Given the description of an element on the screen output the (x, y) to click on. 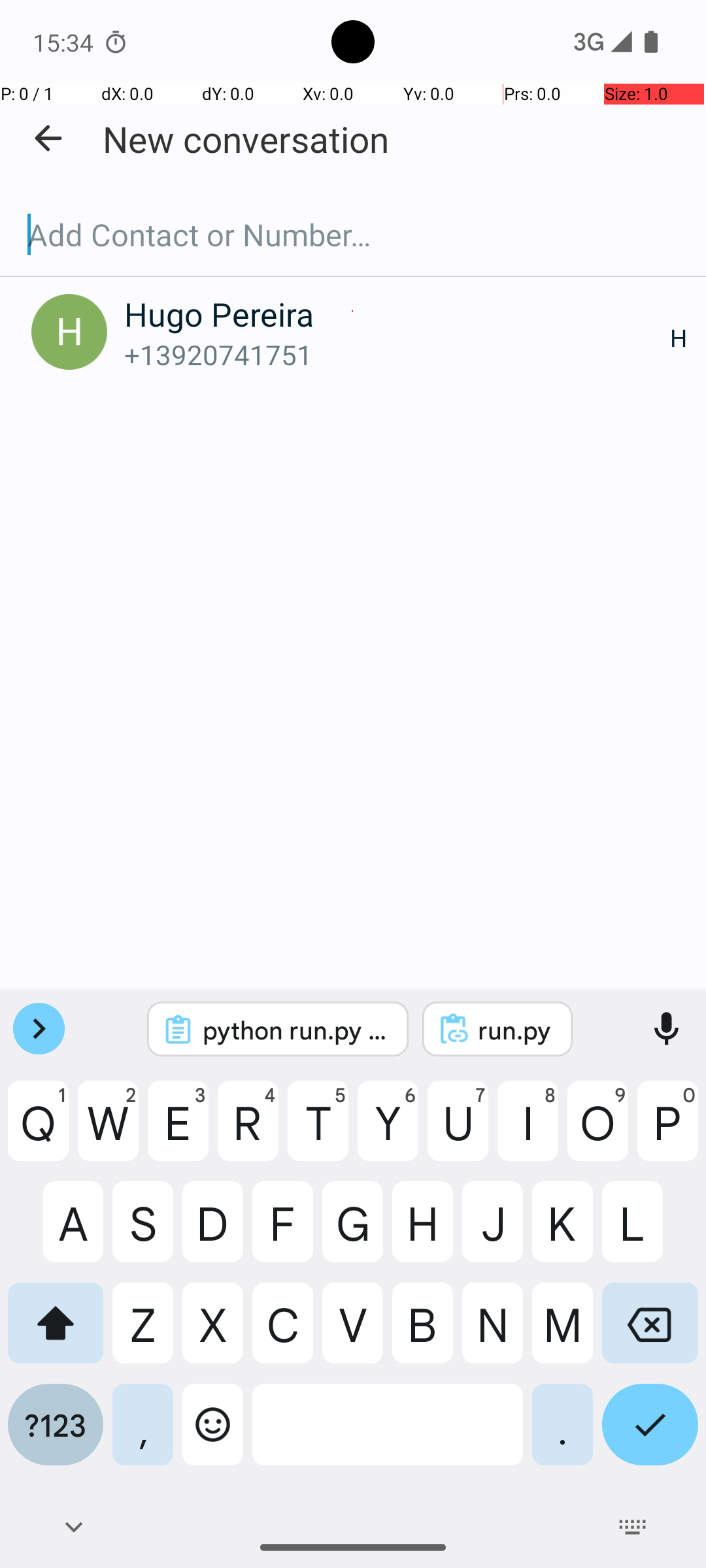
+13920741751 Element type: android.widget.TextView (397, 354)
python run.py \   --suite_family=android_world \   --agent_name=t3a_gpt4 \   --perform_emulator_setup \   --tasks=ContactsAddContact,ClockStopWatchRunning \  # Optional: Just run on a subset. Element type: android.widget.TextView (294, 1029)
run.py Element type: android.widget.TextView (514, 1029)
